Given the description of an element on the screen output the (x, y) to click on. 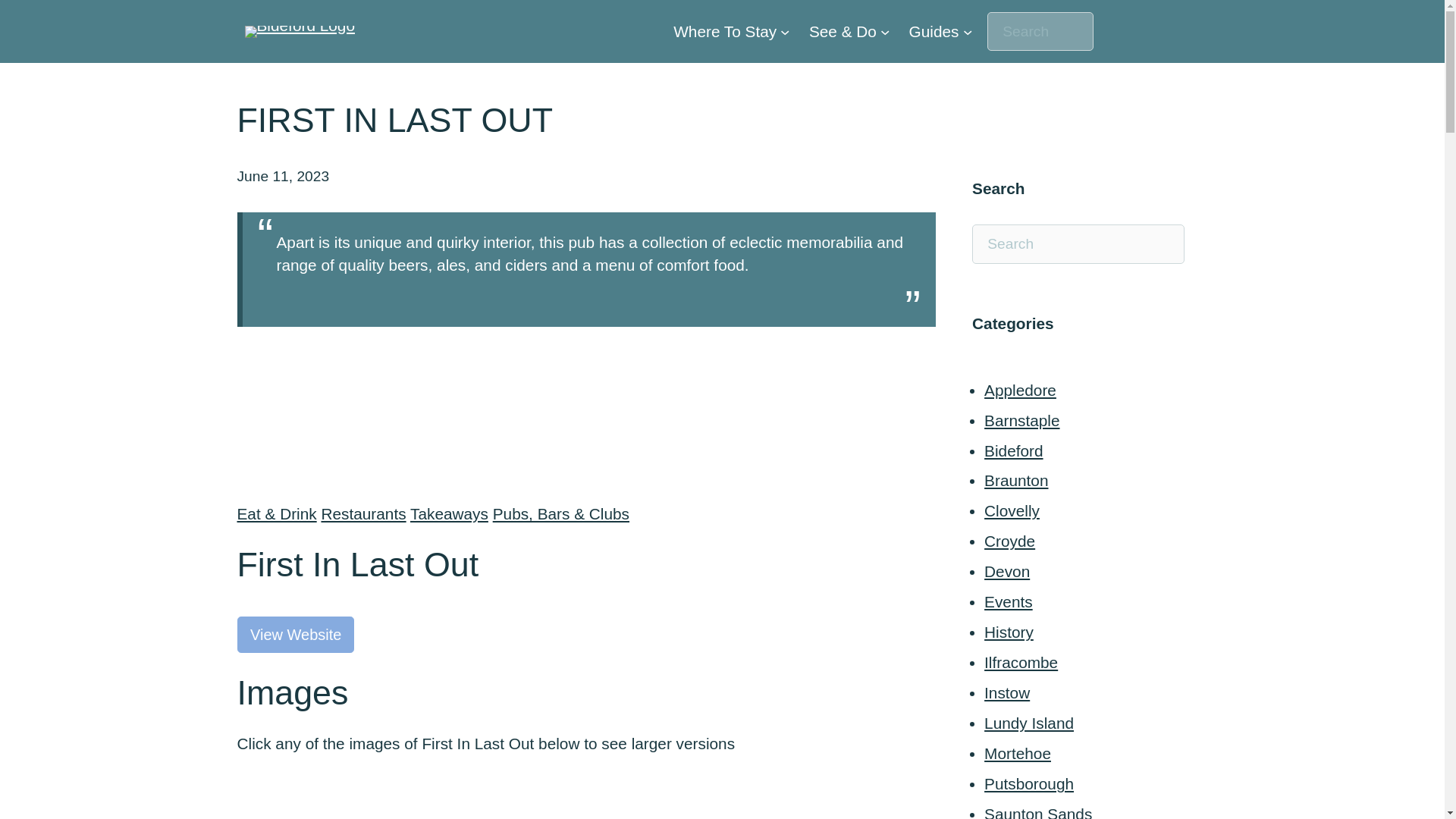
Restaurants (363, 513)
Guides (933, 31)
Where To Stay (724, 31)
Takeaways (448, 513)
